Given the description of an element on the screen output the (x, y) to click on. 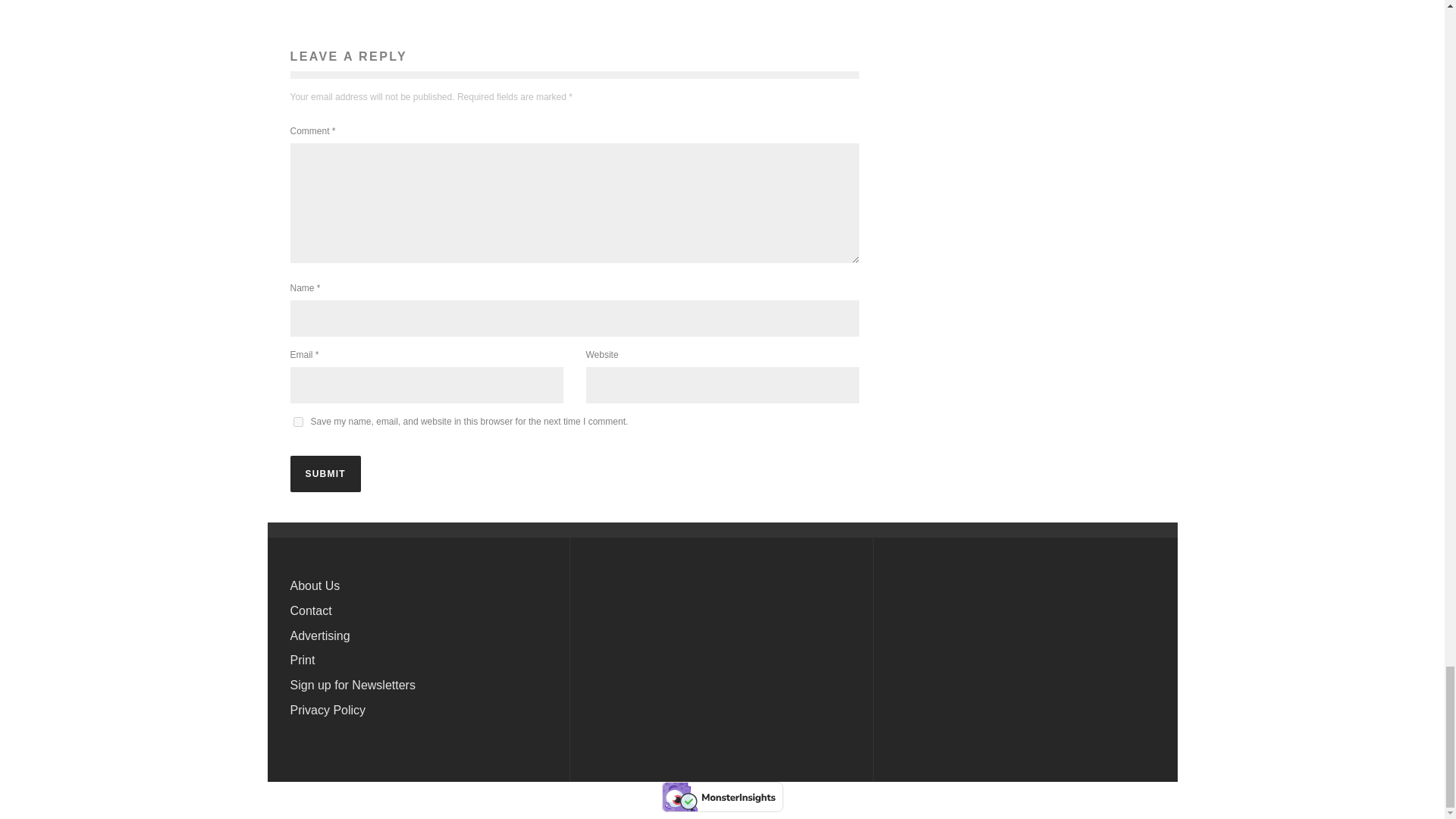
yes (297, 420)
Verified by MonsterInsights (722, 797)
Submit (324, 473)
